Given the description of an element on the screen output the (x, y) to click on. 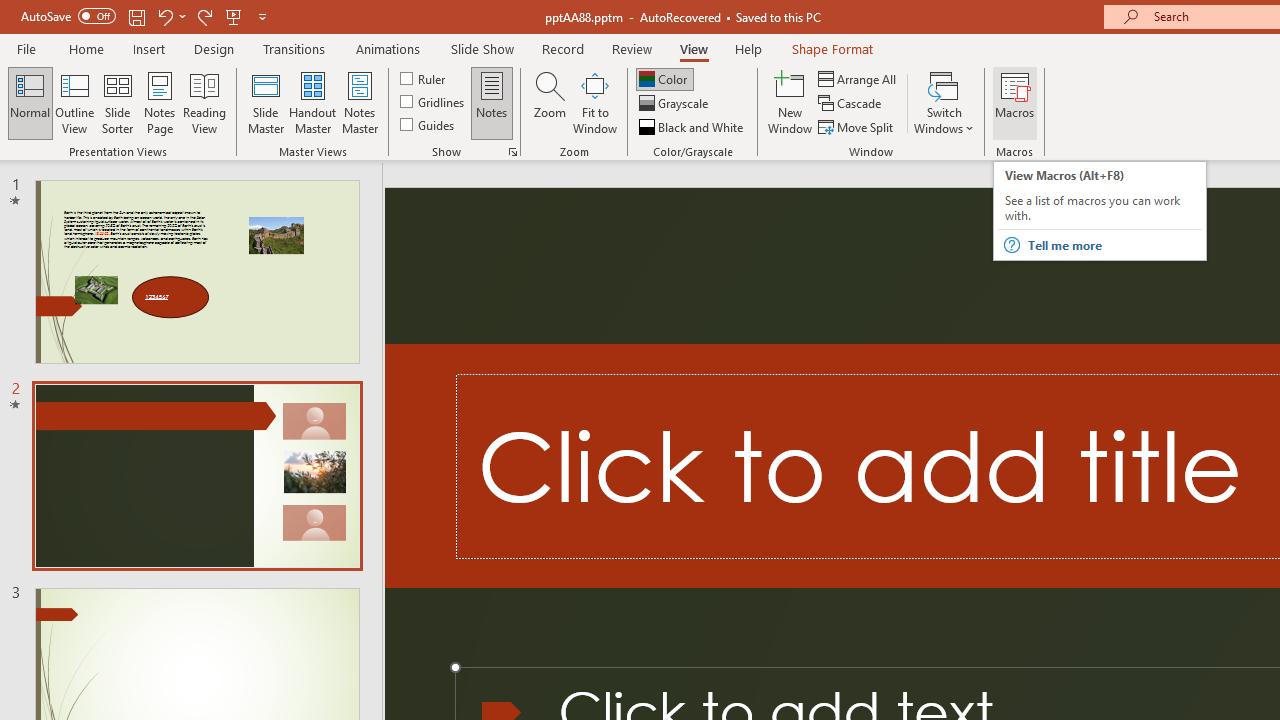
Slide Master (265, 102)
Switch Windows (943, 102)
Color (664, 78)
Fit to Window (594, 102)
Tell me more (1113, 245)
